Given the description of an element on the screen output the (x, y) to click on. 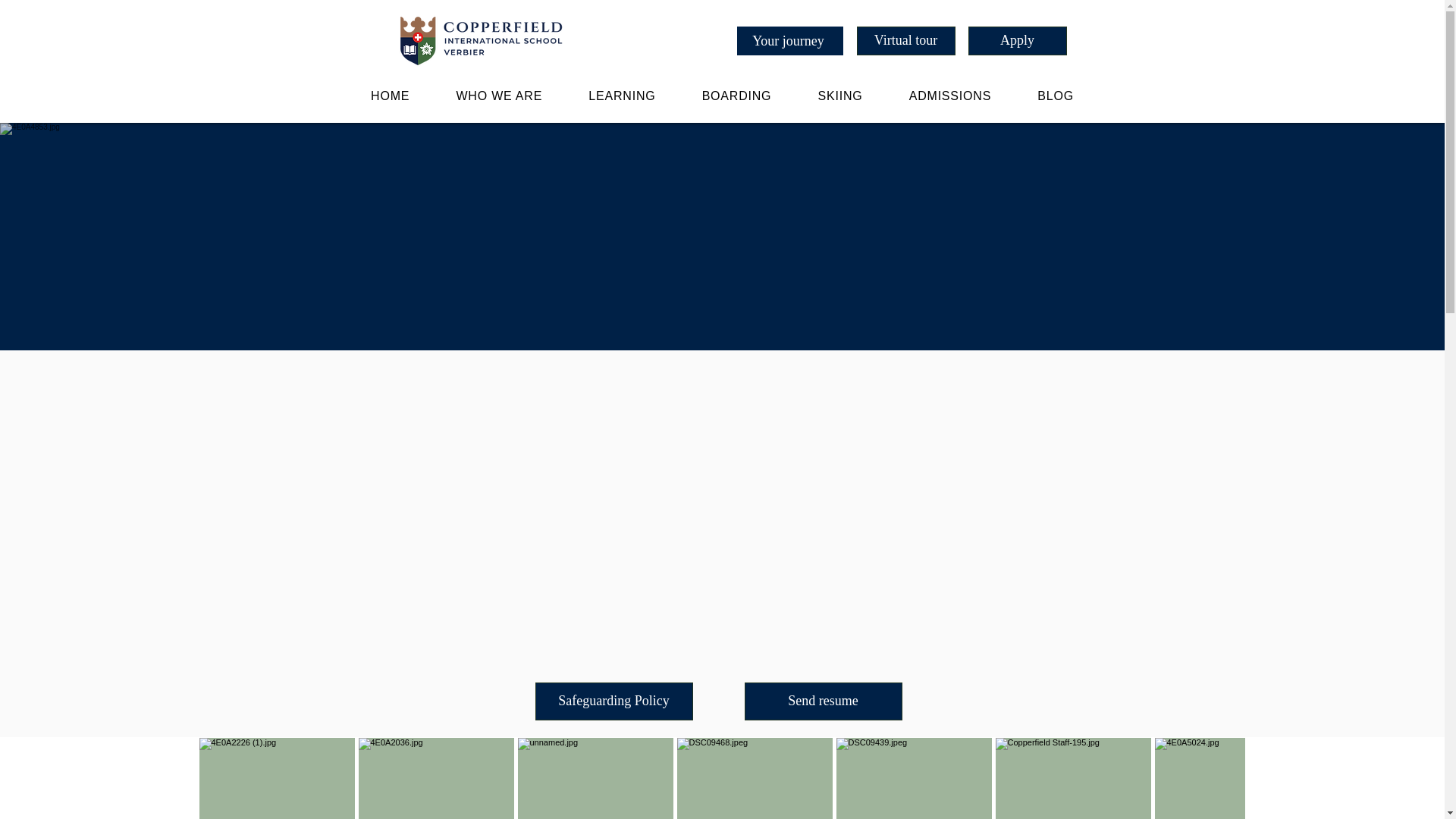
ADMISSIONS (949, 95)
Safeguarding Policy (614, 701)
Apply (1016, 40)
Your journey (789, 40)
SKIING (839, 95)
BOARDING (736, 95)
BLOG (1055, 95)
HOME (389, 95)
Send resume (823, 701)
WHO WE ARE (498, 95)
